Given the description of an element on the screen output the (x, y) to click on. 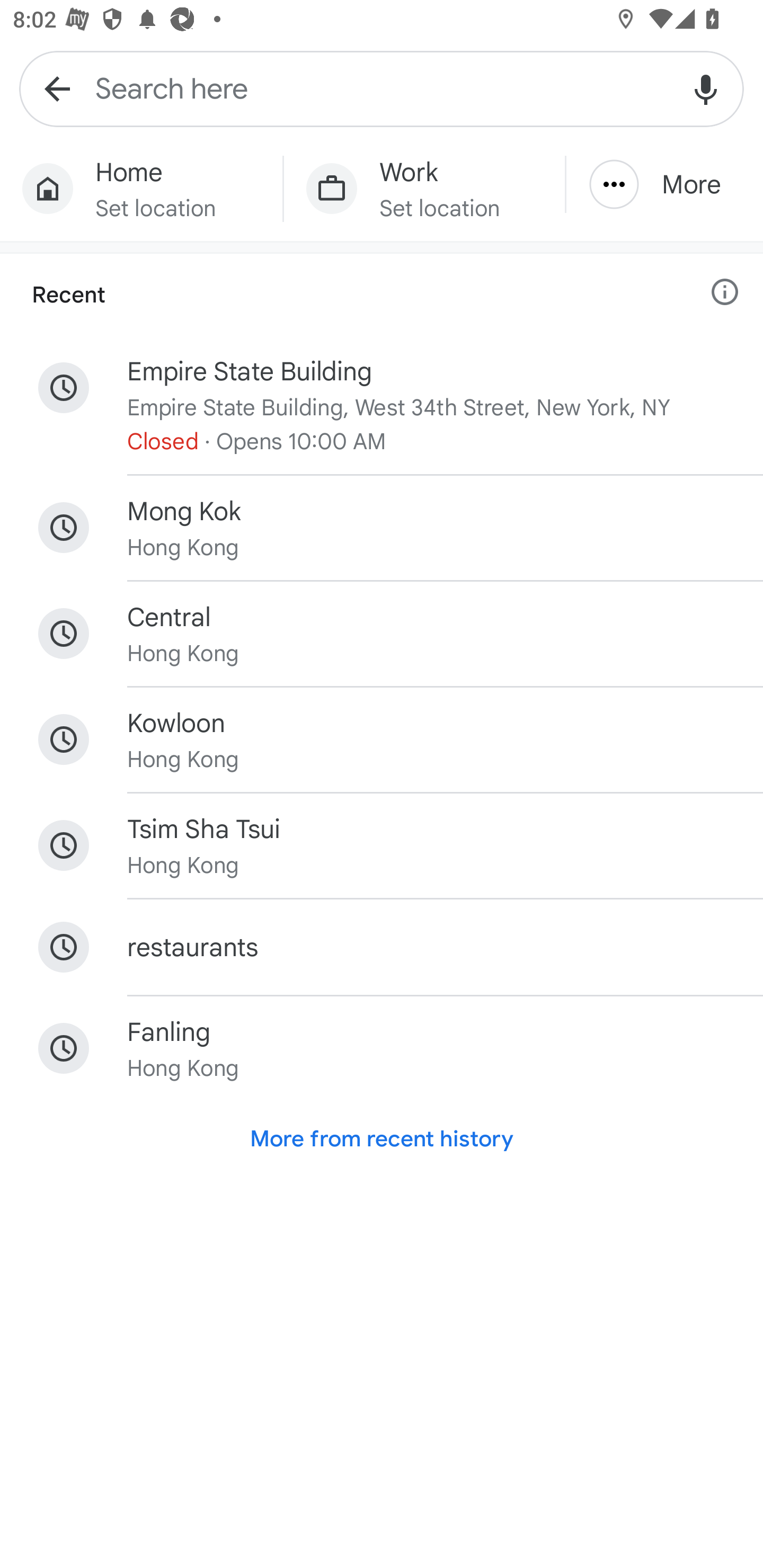
Navigate up (57, 88)
Search here (381, 88)
Voice search (705, 88)
Home Set location (141, 188)
Work Set location (423, 188)
More (664, 184)
Mong Kok Hong Kong (381, 527)
Central Hong Kong (381, 633)
Kowloon Hong Kong (381, 739)
Tsim Sha Tsui Hong Kong (381, 845)
restaurants (381, 947)
Fanling Hong Kong (381, 1047)
More from recent history (381, 1138)
